Given the description of an element on the screen output the (x, y) to click on. 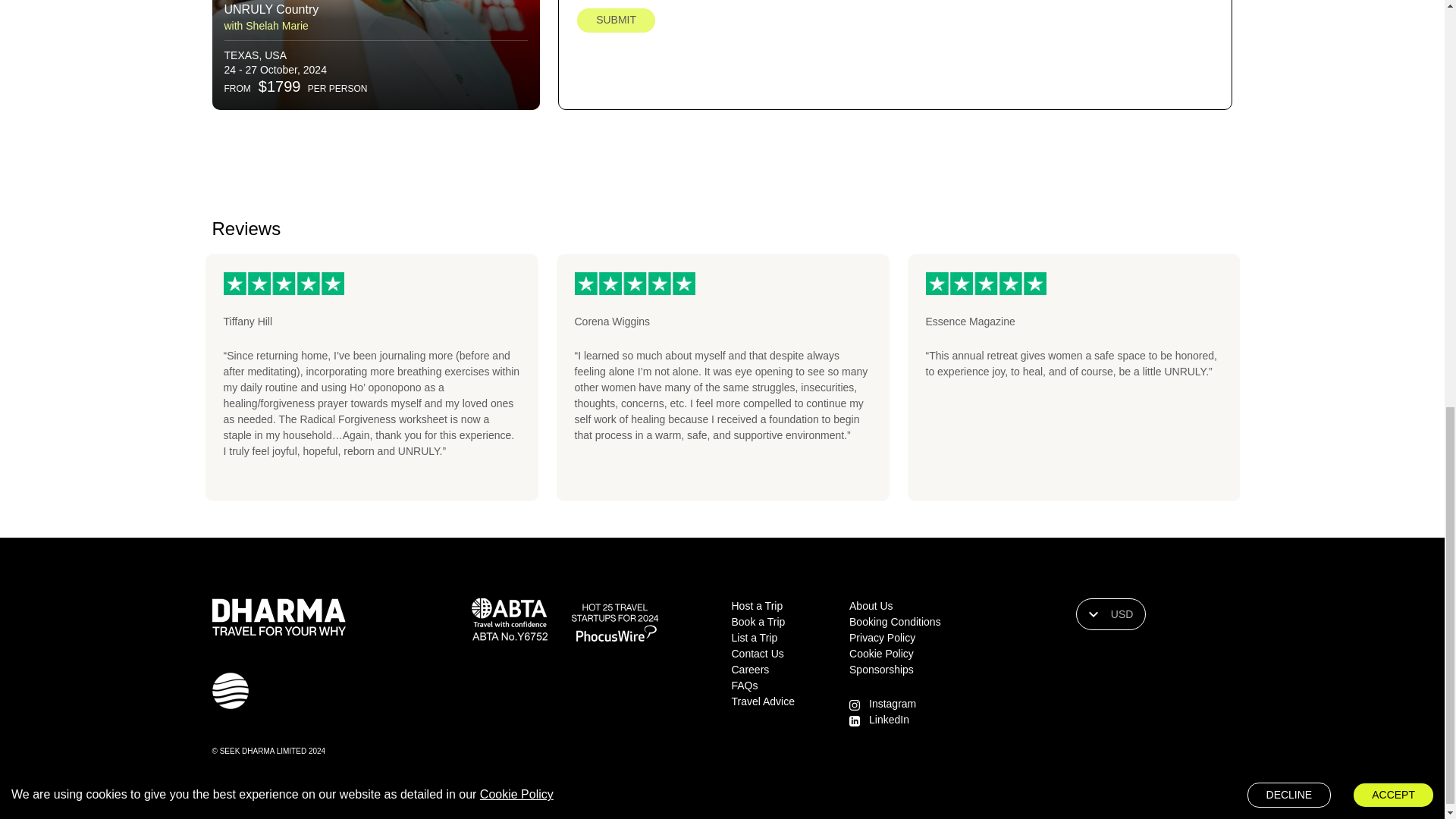
About Us (870, 605)
Sponsorships (881, 669)
List a Trip (753, 637)
Cookie Policy (881, 653)
Host a Trip (756, 605)
Privacy Policy (881, 637)
FAQs (743, 685)
LinkedIn (888, 719)
Instagram (892, 703)
Book a Trip (757, 621)
Contact Us (756, 653)
Careers (749, 669)
Booking Conditions (894, 621)
Travel Advice (762, 701)
SUBMIT (615, 20)
